Given the description of an element on the screen output the (x, y) to click on. 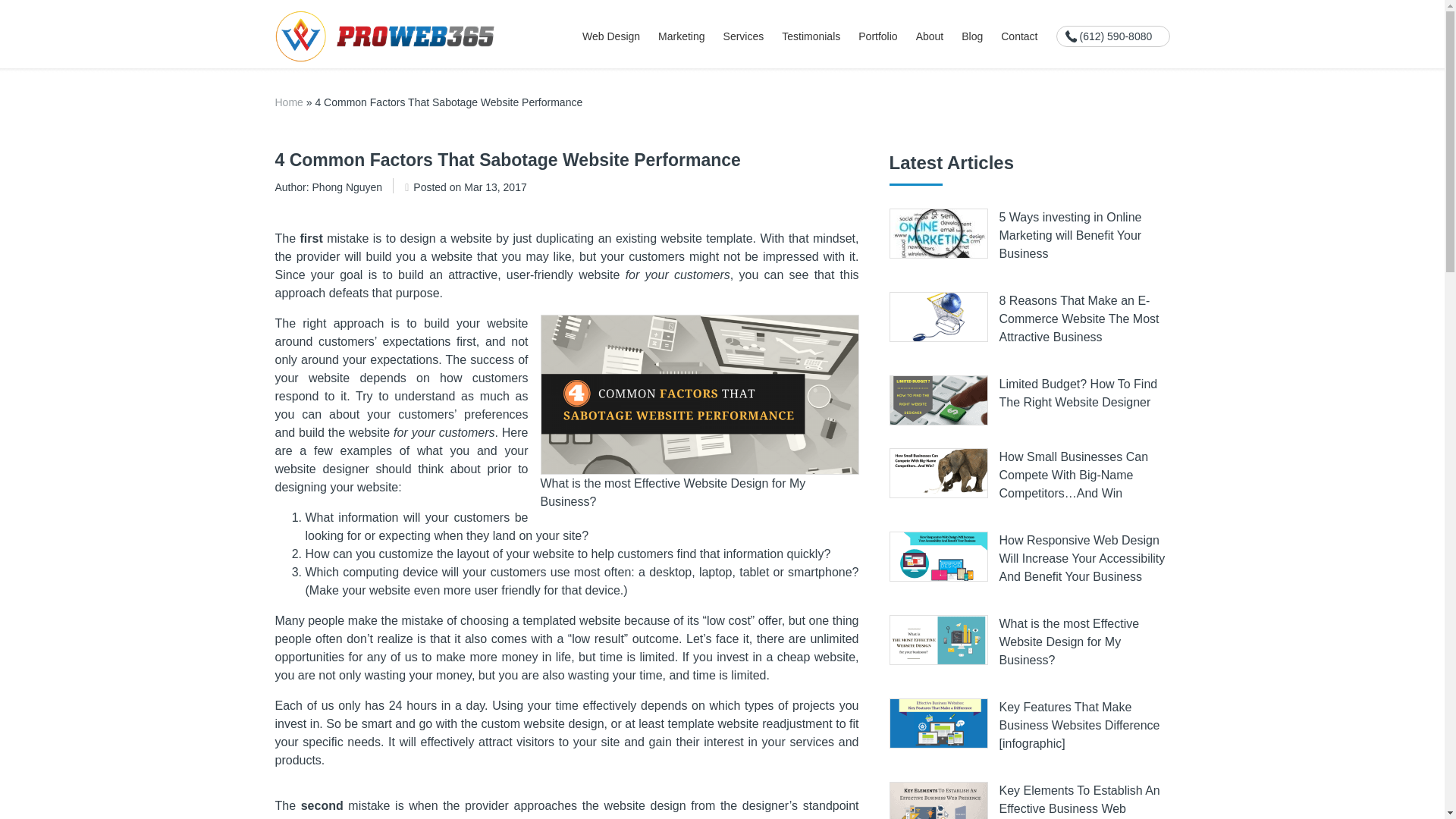
Blog (971, 36)
Services (743, 36)
What is the most Effective Website Design for My Business? (699, 394)
Testimonials (810, 36)
Minnesota Web Designers (385, 34)
Limited Budget? How To Find The Right Website Designer (1077, 392)
Key Elements To Establish An Effective Business Web Presence (1079, 801)
Phong Nguyen (347, 186)
About (929, 36)
